Given the description of an element on the screen output the (x, y) to click on. 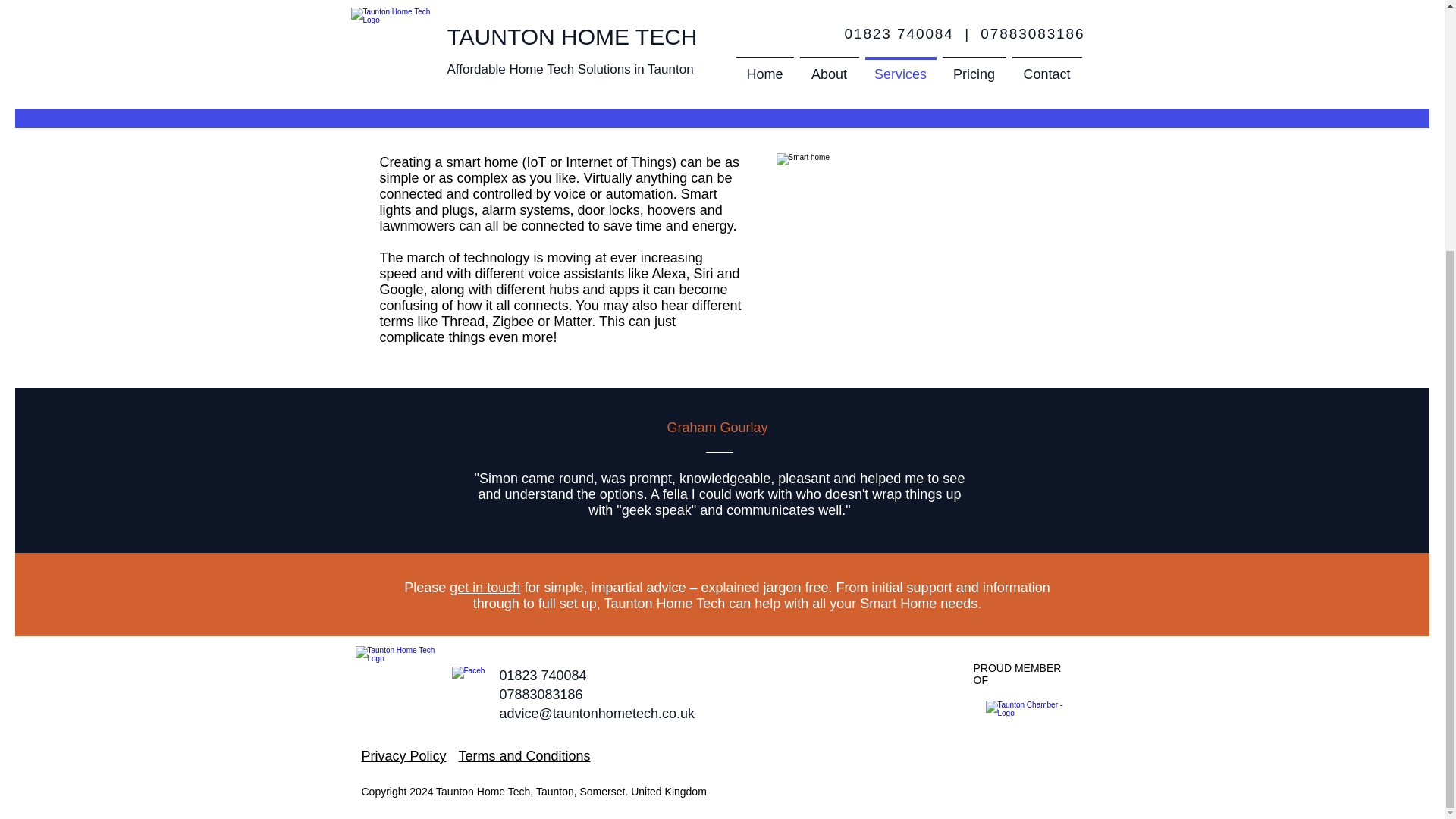
07883083186 (540, 694)
get in touch (484, 587)
Privacy Policy (403, 755)
Terms and Conditions (523, 755)
01823 740084 (542, 675)
